Given the description of an element on the screen output the (x, y) to click on. 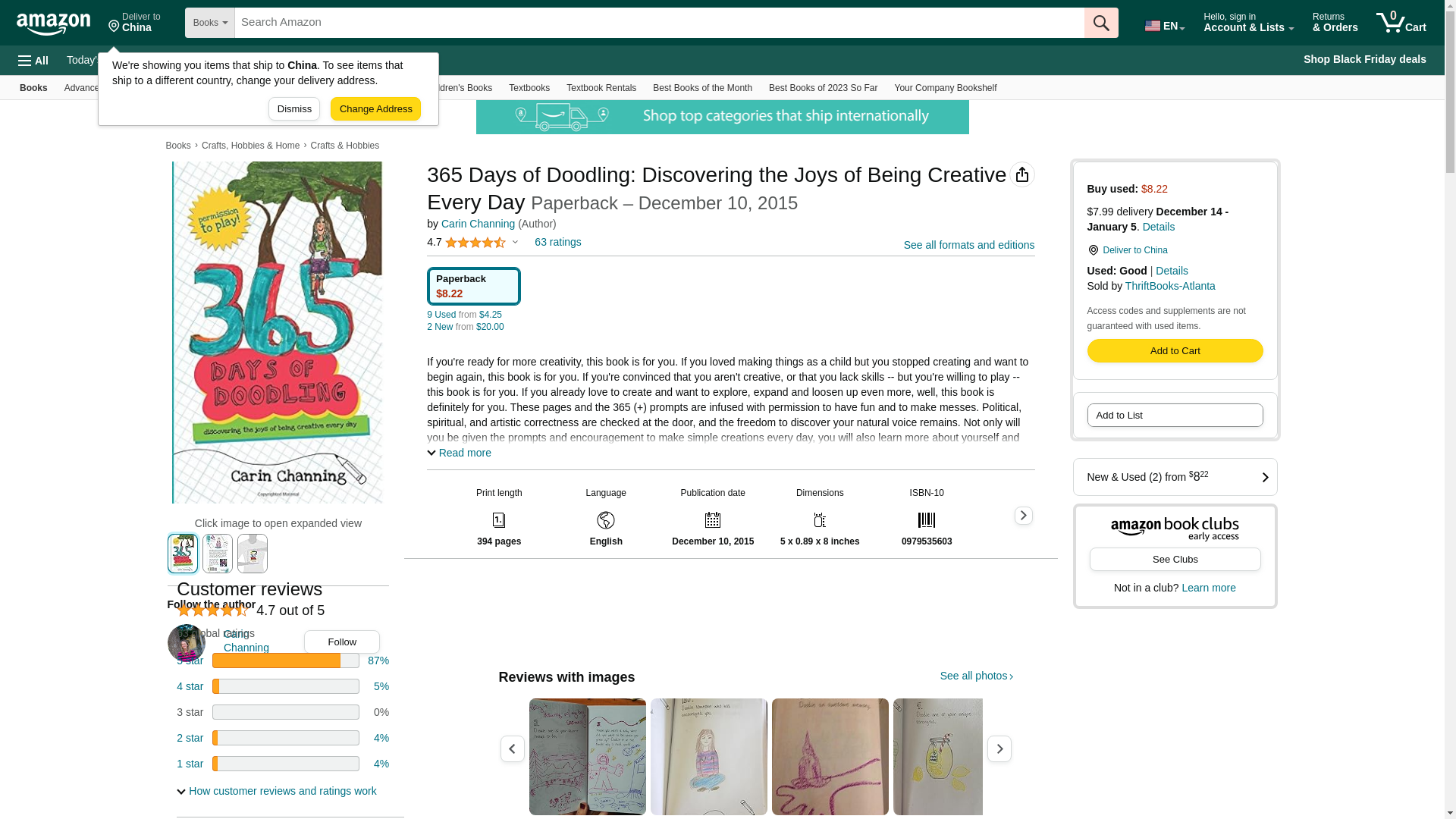
4 star Element type: text (189, 686)
Learn more Element type: text (1208, 587)
63 ratings Element type: text (557, 241)
Your Company Bookshelf Element type: text (945, 87)
Go Element type: text (1101, 22)
Add to Shopping Cart Element type: hover (1174, 350)
Start here. Element type: text (1278, 89)
New Releases Element type: text (181, 87)
EN Element type: text (1163, 22)
2 star Element type: text (189, 737)
Best Books of 2023 So Far Element type: text (822, 87)
Deliver to China Element type: text (1175, 250)
Crafts & Hobbies Element type: text (344, 145)
Add to List Element type: text (1174, 415)
Textbooks Element type: text (529, 87)
2 New from $20.00 Element type: text (464, 326)
Read more Element type: text (458, 452)
See all photos Element type: text (977, 675)
Today's Deals Element type: text (99, 59)
4.7 Element type: text (471, 241)
4% Element type: text (381, 763)
Sign in Element type: text (1248, 65)
Crafts, Hobbies & Home Element type: text (250, 145)
Details Element type: text (1171, 270)
Carin Channing Element type: text (477, 223)
87% Element type: text (378, 660)
Books Element type: text (33, 87)
Customer Service Element type: text (249, 59)
Paperback
$8.22 Element type: text (473, 285)
Gift Cards Element type: text (334, 59)
Advanced Search Element type: text (100, 87)
See all formats and editions Element type: text (969, 244)
Returns
& Orders Element type: text (1335, 22)
Carin Channing Element type: text (258, 642)
How customer reviews and ratings work Element type: text (276, 790)
5 star Element type: text (189, 660)
Shop Black Friday deals Element type: text (1364, 59)
Add to Cart Element type: text (1174, 350)
All Element type: text (33, 60)
Best Sellers & More Element type: text (267, 87)
Best Books of the Month Element type: text (702, 87)
0
Cart Element type: text (1401, 22)
Share Element type: hover (1022, 174)
ThriftBooks-Atlanta Element type: text (1170, 285)
Children's Books Element type: text (458, 87)
Hello, sign in
Account & Lists Element type: text (1248, 22)
Textbook Rentals Element type: text (601, 87)
5% Element type: text (381, 686)
New & Used (2) from 
$8
22 Element type: text (1174, 476)
Skip to main content Element type: text (60, 20)
9 Used from $4.25 Element type: text (464, 314)
Deliver to
China Element type: text (134, 22)
1 star Element type: text (189, 763)
Amazon Book Clubs Element type: text (366, 87)
Books Element type: text (177, 145)
Details Element type: text (1158, 226)
Sell Element type: text (384, 59)
4% Element type: text (381, 737)
Registry Element type: text (169, 59)
Follow Element type: text (341, 641)
